Given the description of an element on the screen output the (x, y) to click on. 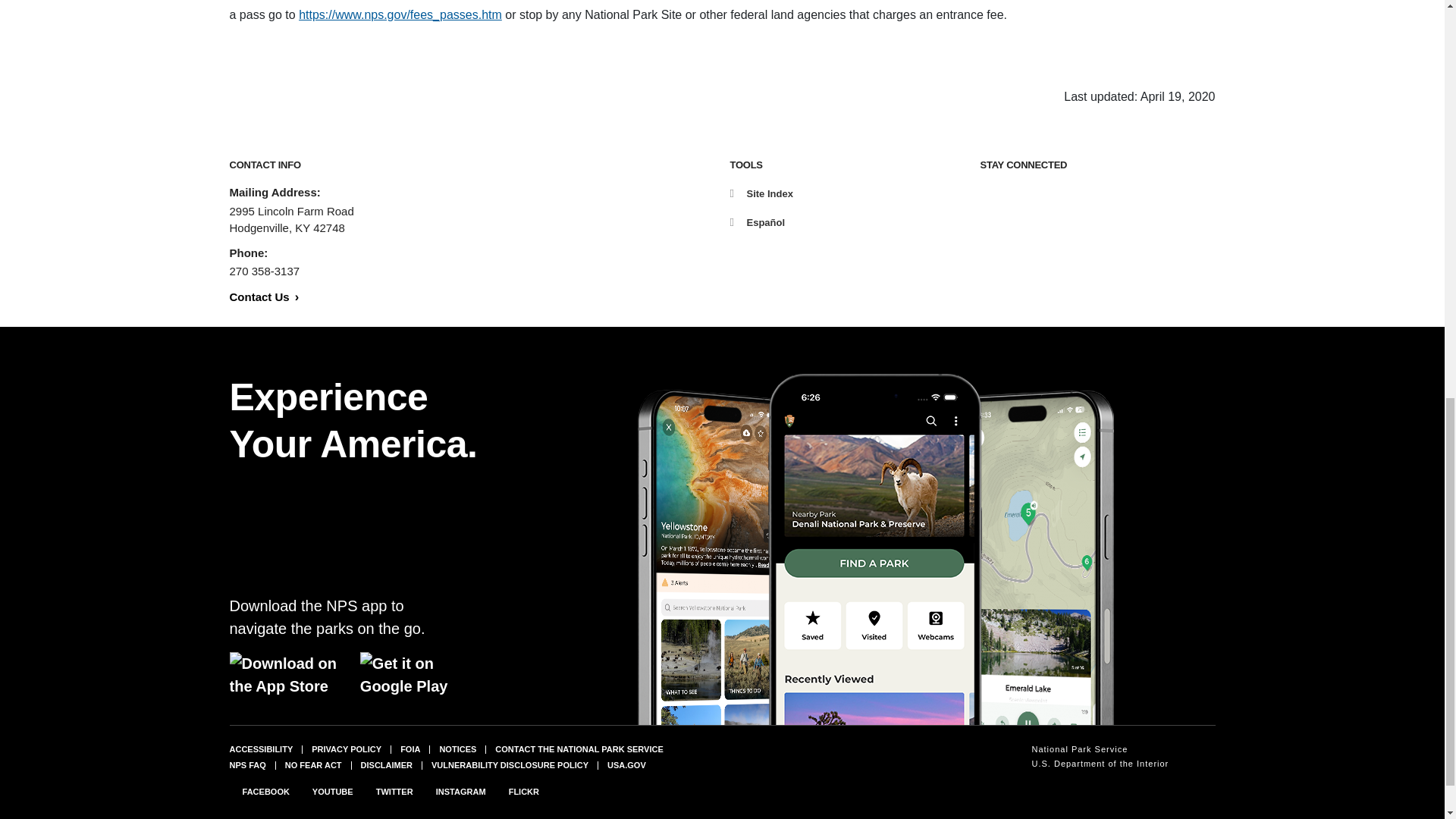
National Park Service (1099, 748)
Site Index (760, 193)
National Park Service frequently asked questions (246, 764)
U.S. Department of the Interior (1099, 763)
Contact Us (263, 296)
